Given the description of an element on the screen output the (x, y) to click on. 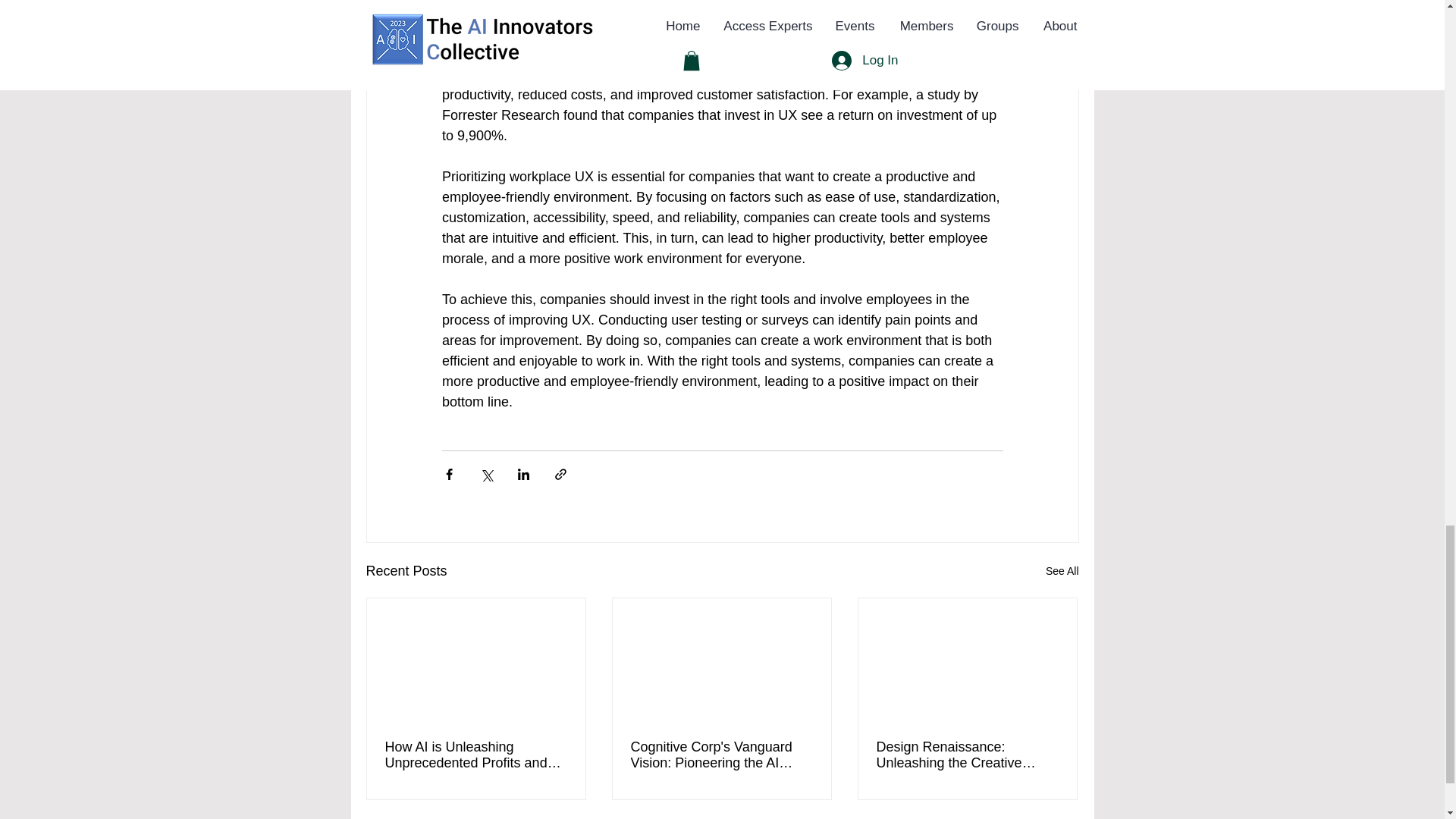
See All (1061, 571)
